Given the description of an element on the screen output the (x, y) to click on. 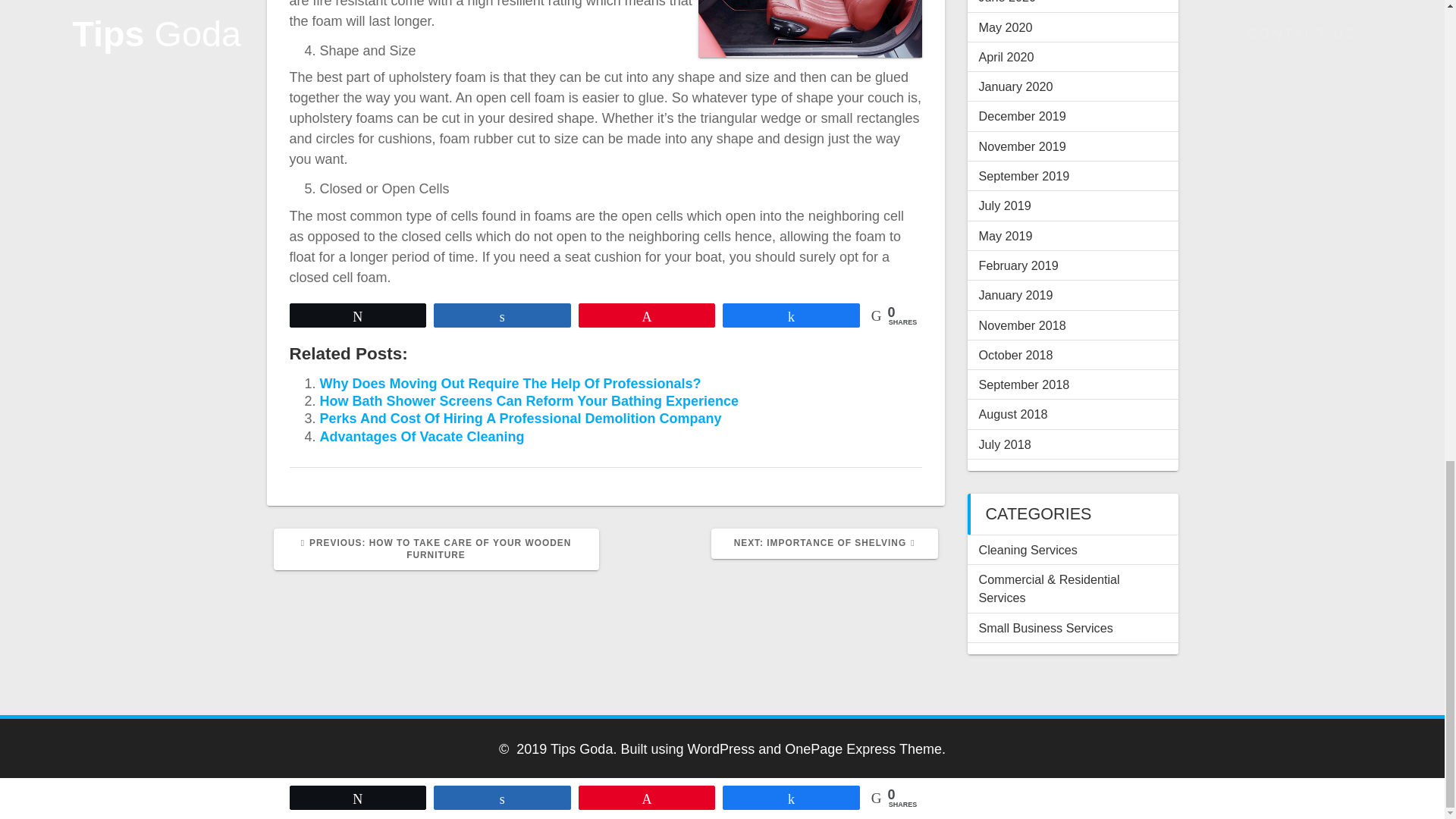
December 2019 (1021, 115)
June 2020 (1006, 2)
Advantages Of Vacate Cleaning (422, 436)
July 2019 (1004, 205)
Why Does Moving Out Require The Help Of Professionals? (510, 383)
September 2018 (1023, 384)
How Bath Shower Screens Can Reform Your Bathing Experience (529, 400)
May 2019 (1005, 235)
Why Does Moving Out Require The Help Of Professionals? (510, 383)
Perks And Cost Of Hiring A Professional Demolition Company (521, 418)
September 2019 (1023, 175)
January 2019 (1015, 295)
April 2020 (1005, 56)
May 2020 (1005, 27)
